Given the description of an element on the screen output the (x, y) to click on. 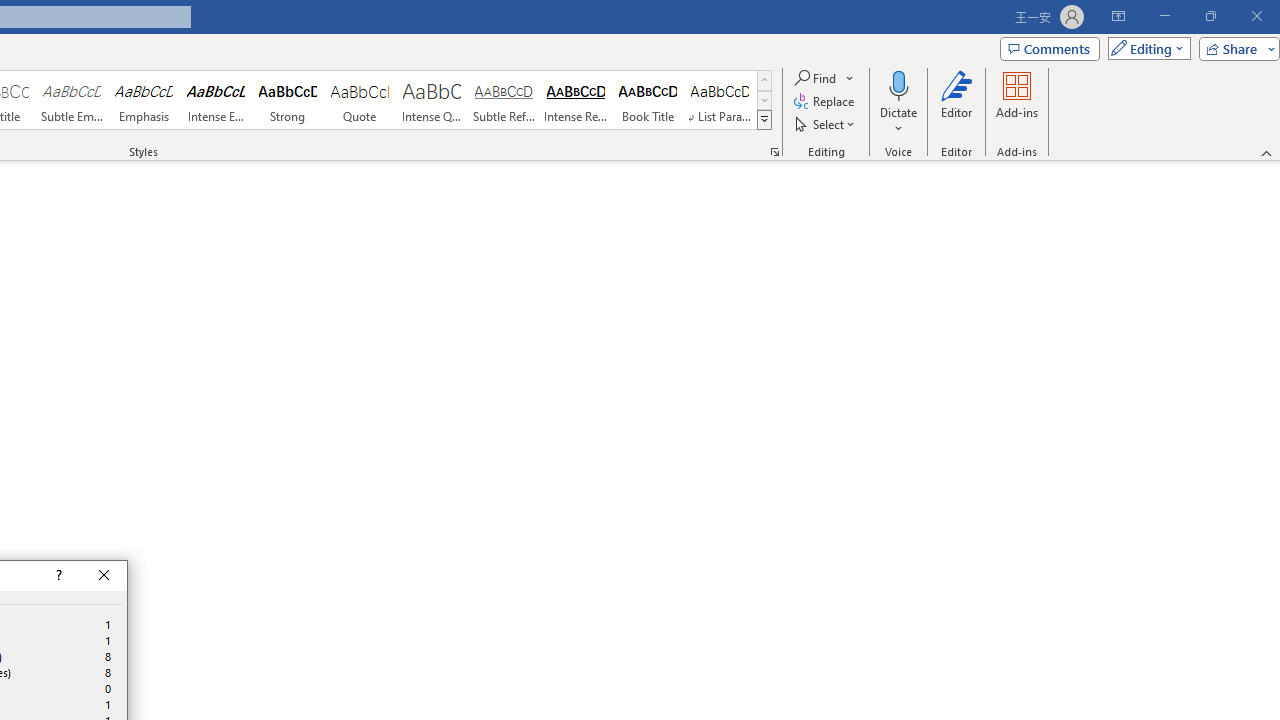
Intense Reference (575, 100)
Book Title (647, 100)
Emphasis (143, 100)
Intense Quote (431, 100)
Quote (359, 100)
